Given the description of an element on the screen output the (x, y) to click on. 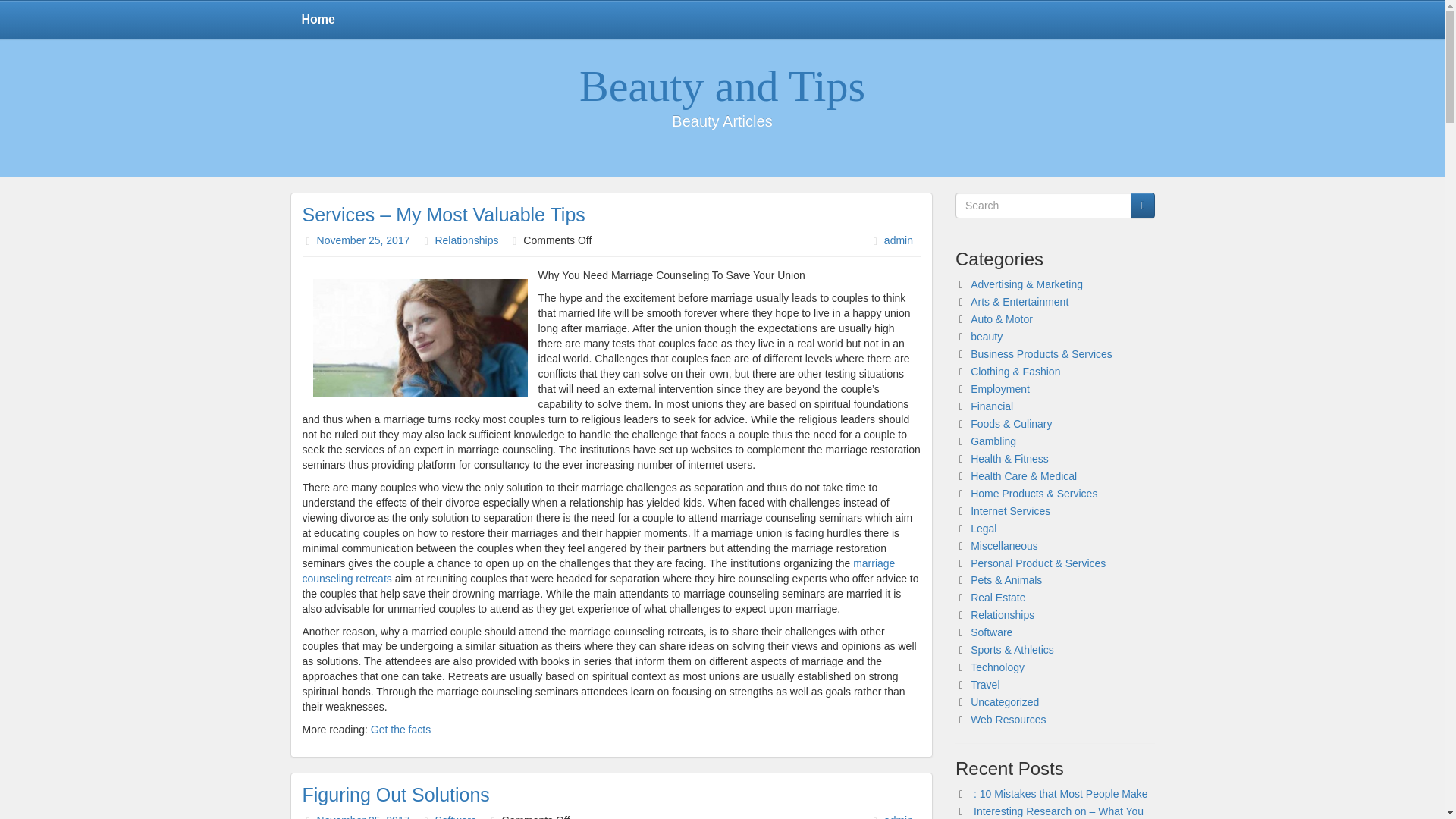
November 25, 2017 (363, 816)
Software (454, 816)
Relationships (465, 240)
admin (897, 816)
Get the facts (400, 729)
Beauty and Tips (721, 85)
Home (317, 19)
November 25, 2017 (363, 240)
marriage counseling retreats (598, 570)
Figuring Out Solutions (395, 794)
